Given the description of an element on the screen output the (x, y) to click on. 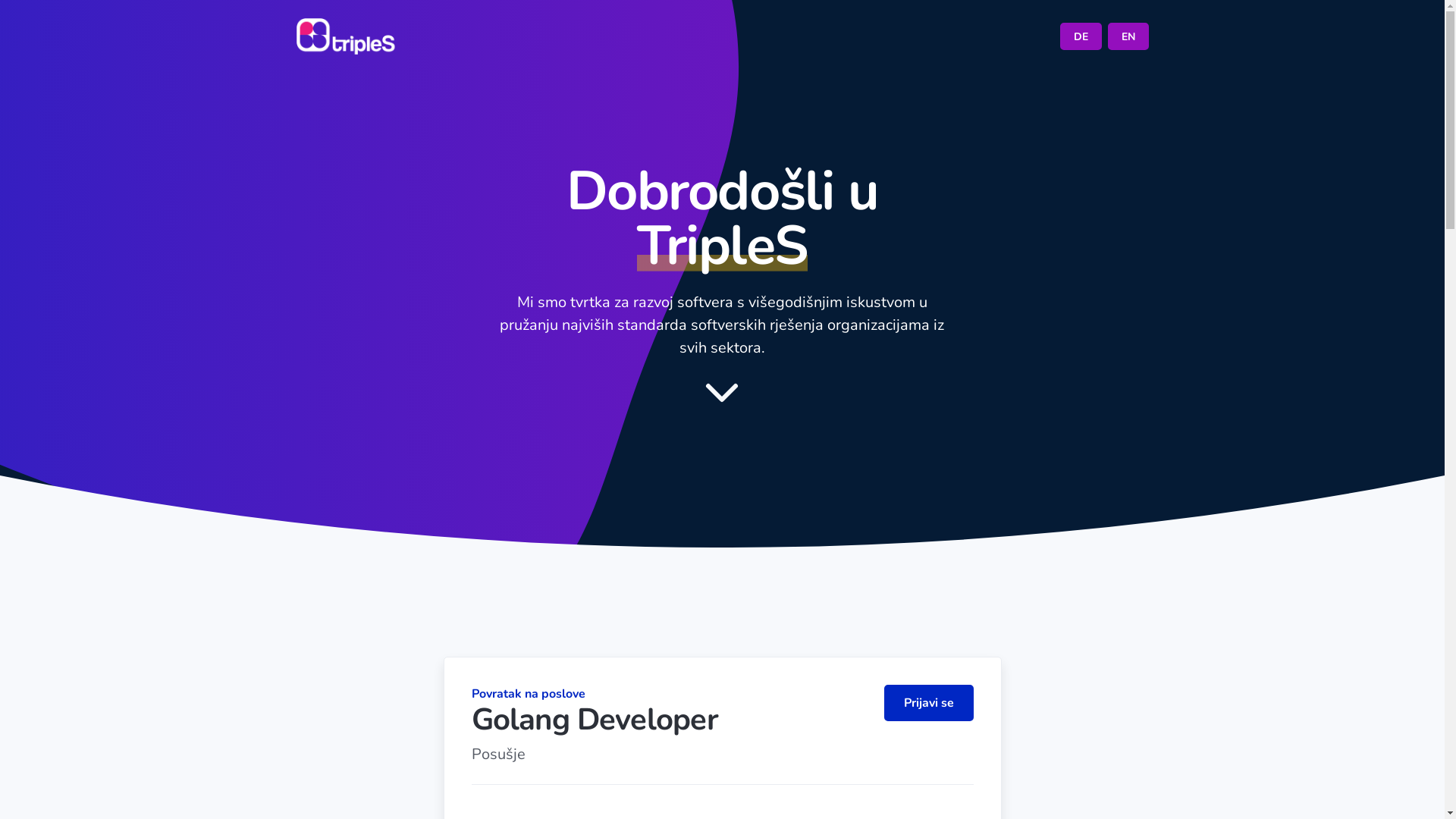
EN Element type: text (1127, 36)
Prijavi se Element type: text (928, 702)
DE Element type: text (1080, 36)
Povratak na poslove Element type: text (528, 693)
